Given the description of an element on the screen output the (x, y) to click on. 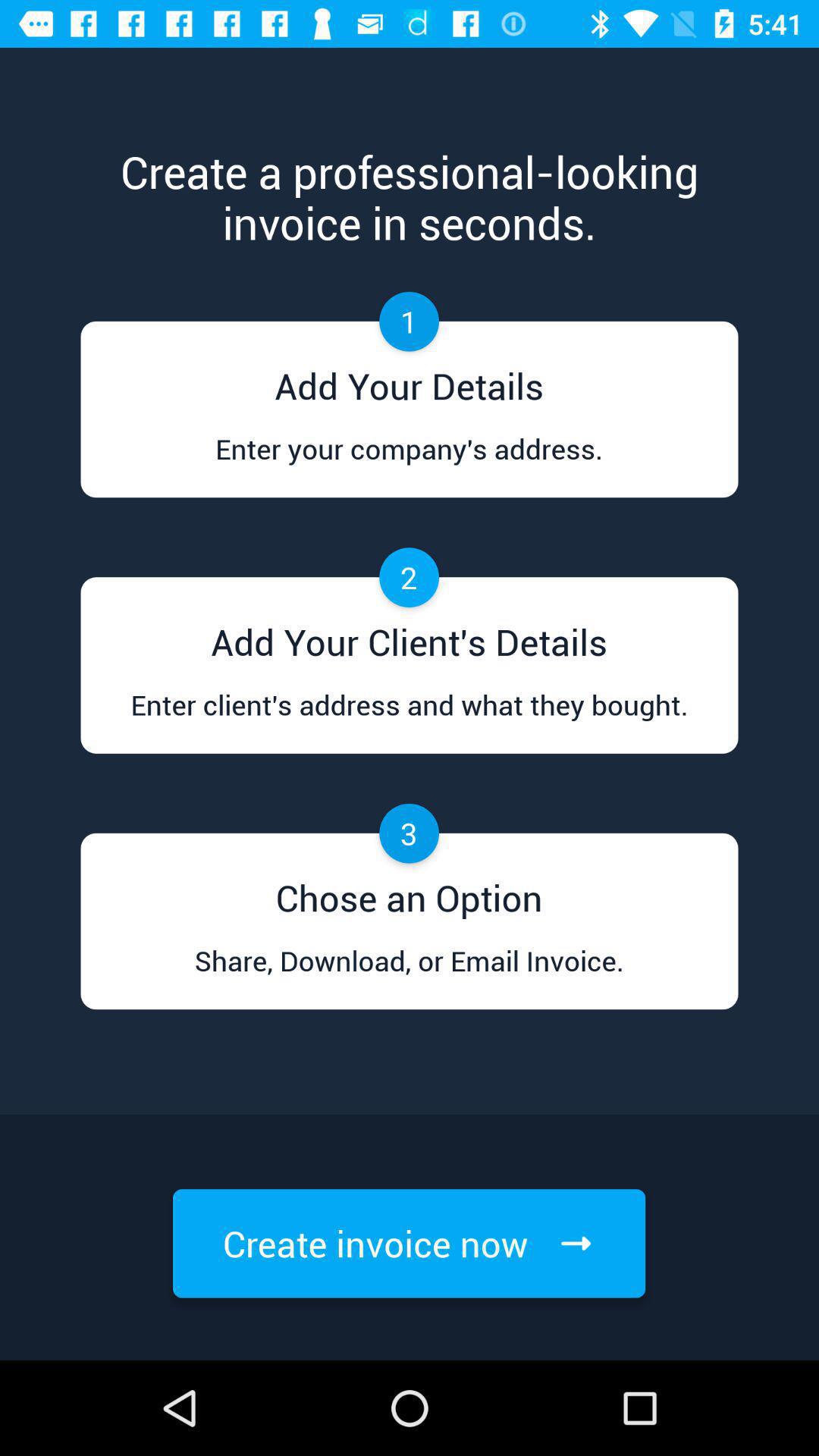
flip until the chose an option icon (408, 892)
